Given the description of an element on the screen output the (x, y) to click on. 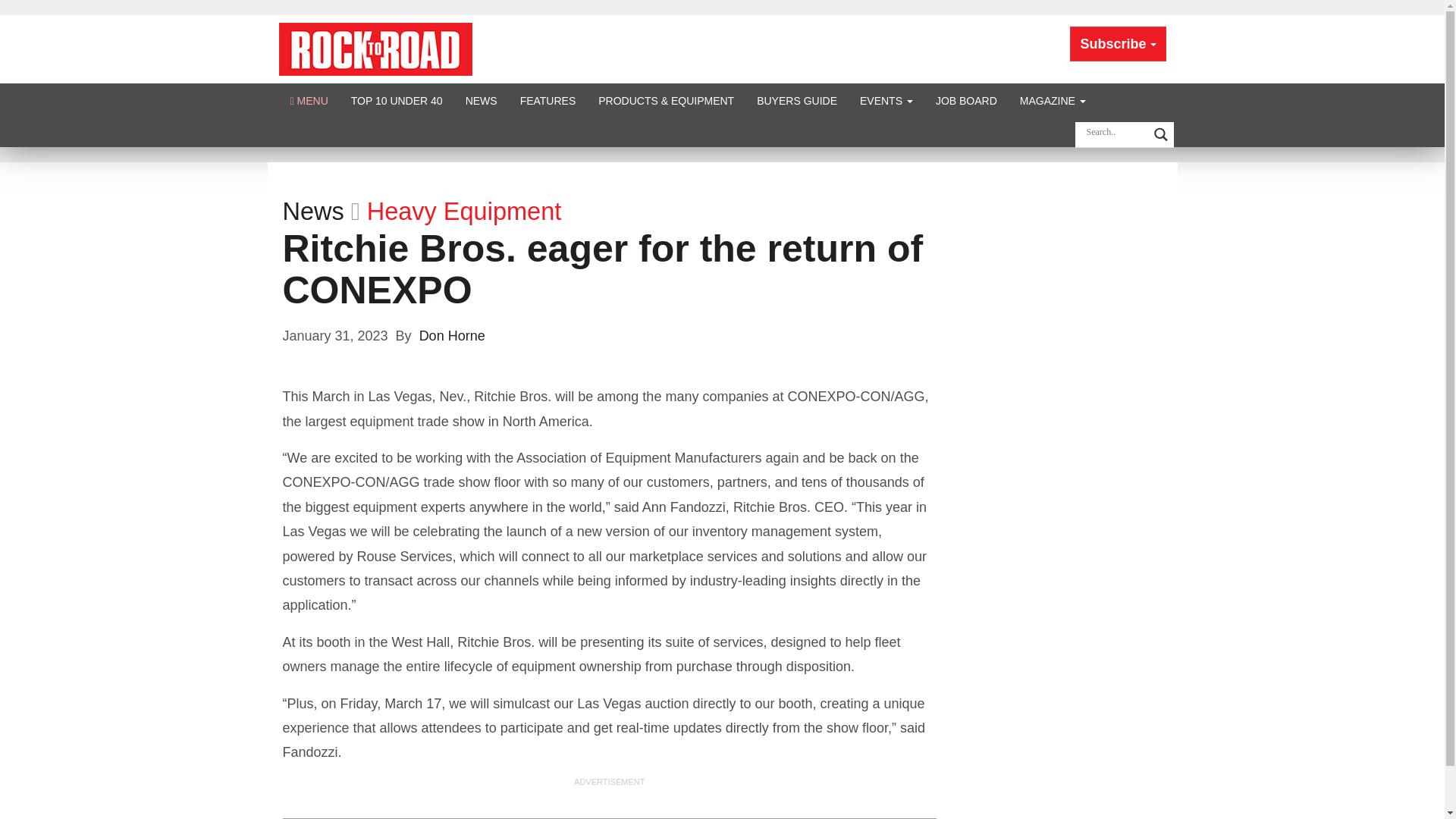
MAGAZINE (1053, 100)
FEATURES (548, 100)
Subscribe (1118, 43)
MENU (309, 100)
TOP 10 UNDER 40 (396, 100)
JOB BOARD (966, 100)
Click to show site navigation (309, 100)
BUYERS GUIDE (796, 100)
NEWS (481, 100)
Rock to Road (375, 48)
EVENTS (886, 100)
